Given the description of an element on the screen output the (x, y) to click on. 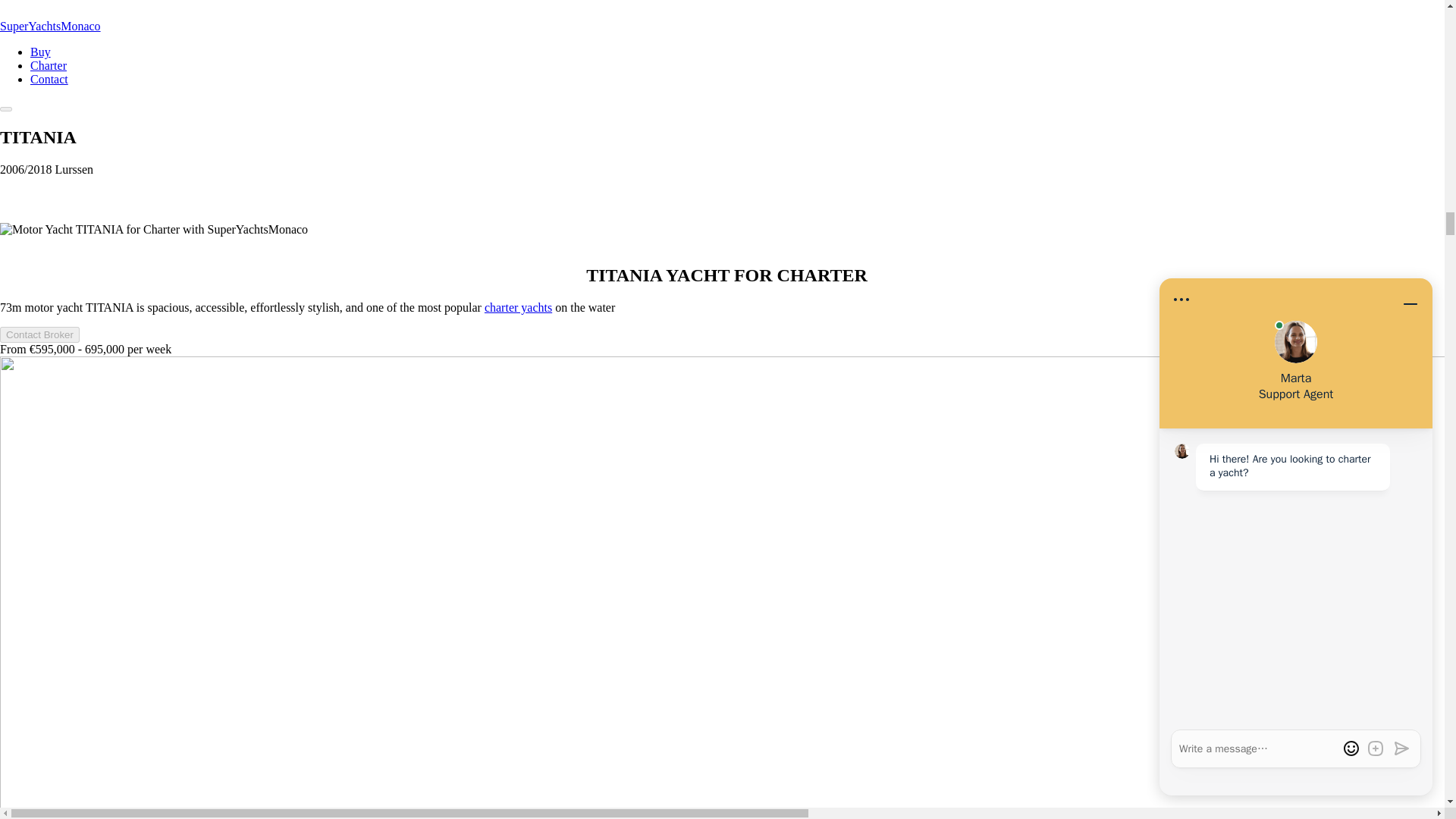
Contact Broker (40, 334)
Contact (49, 78)
charter yachts (517, 307)
search (722, 8)
Buy (40, 51)
Charter (48, 65)
SuperYachtsMonaco (50, 25)
